Given the description of an element on the screen output the (x, y) to click on. 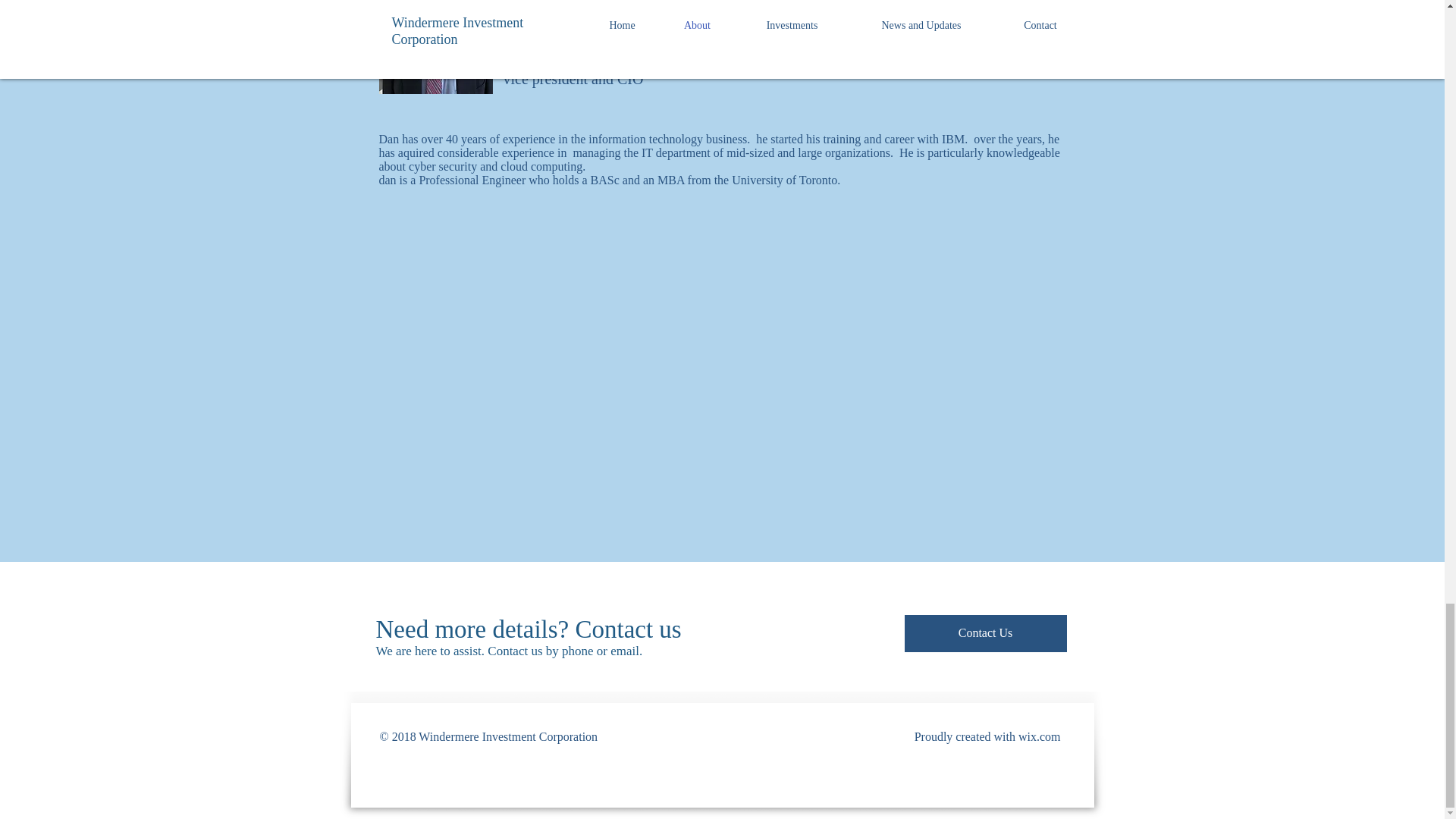
wix.com (1039, 736)
Contact Us (984, 633)
